Given the description of an element on the screen output the (x, y) to click on. 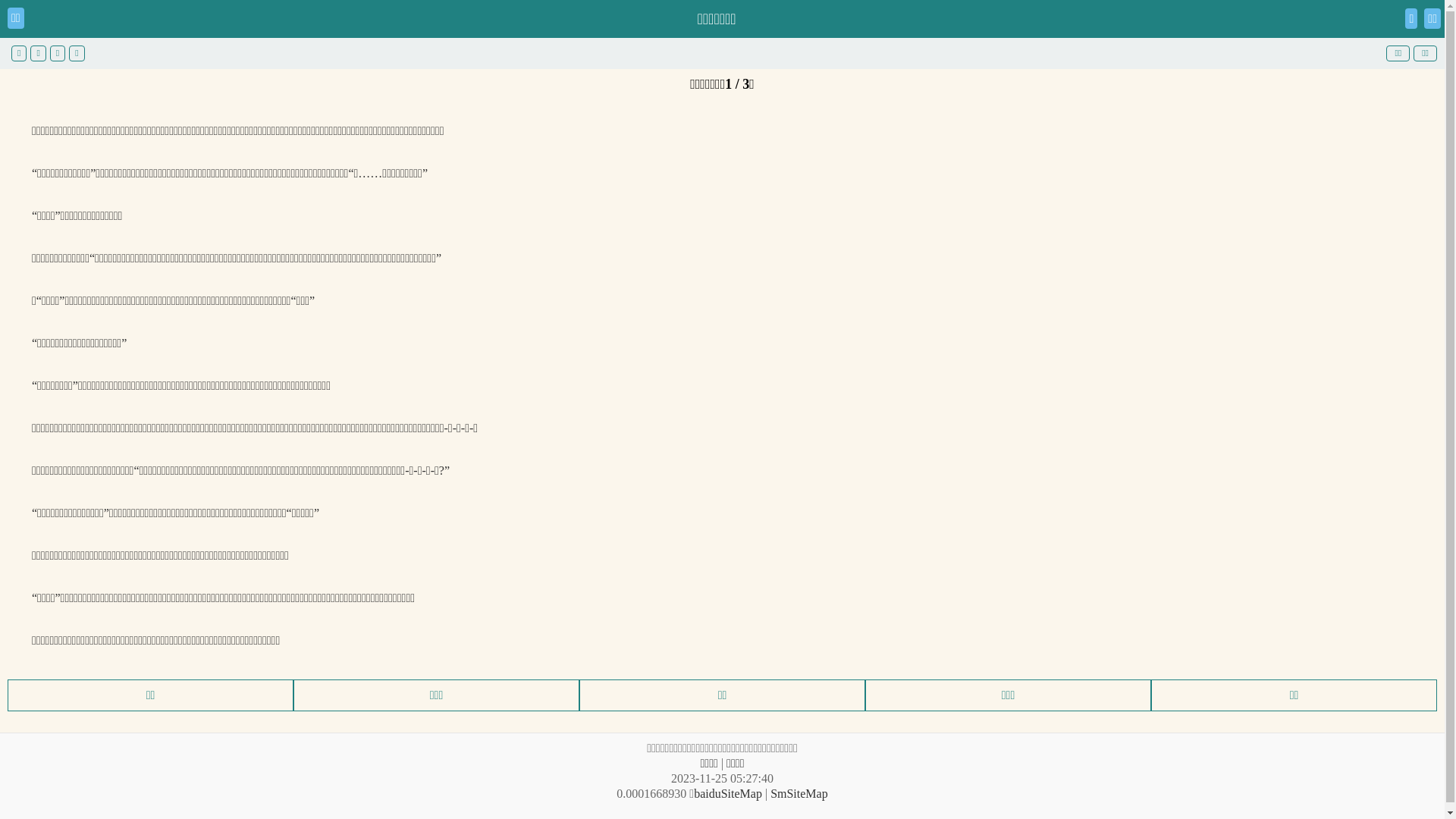
baiduSiteMap Element type: text (727, 793)
SmSiteMap Element type: text (799, 793)
